Given the description of an element on the screen output the (x, y) to click on. 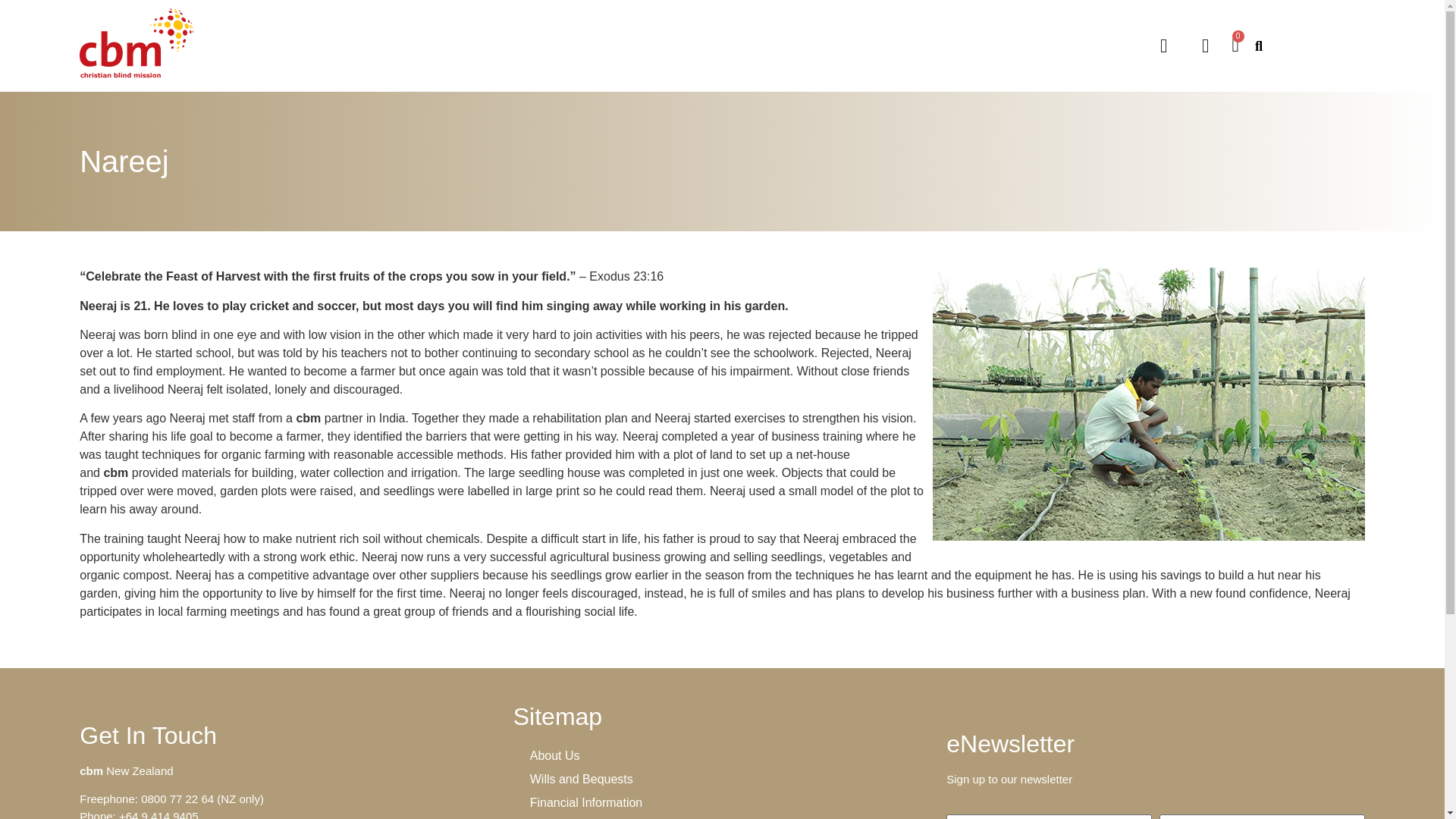
Wills and Bequests (722, 779)
About Us (722, 755)
Media Resources (722, 816)
Financial Information (722, 802)
